Given the description of an element on the screen output the (x, y) to click on. 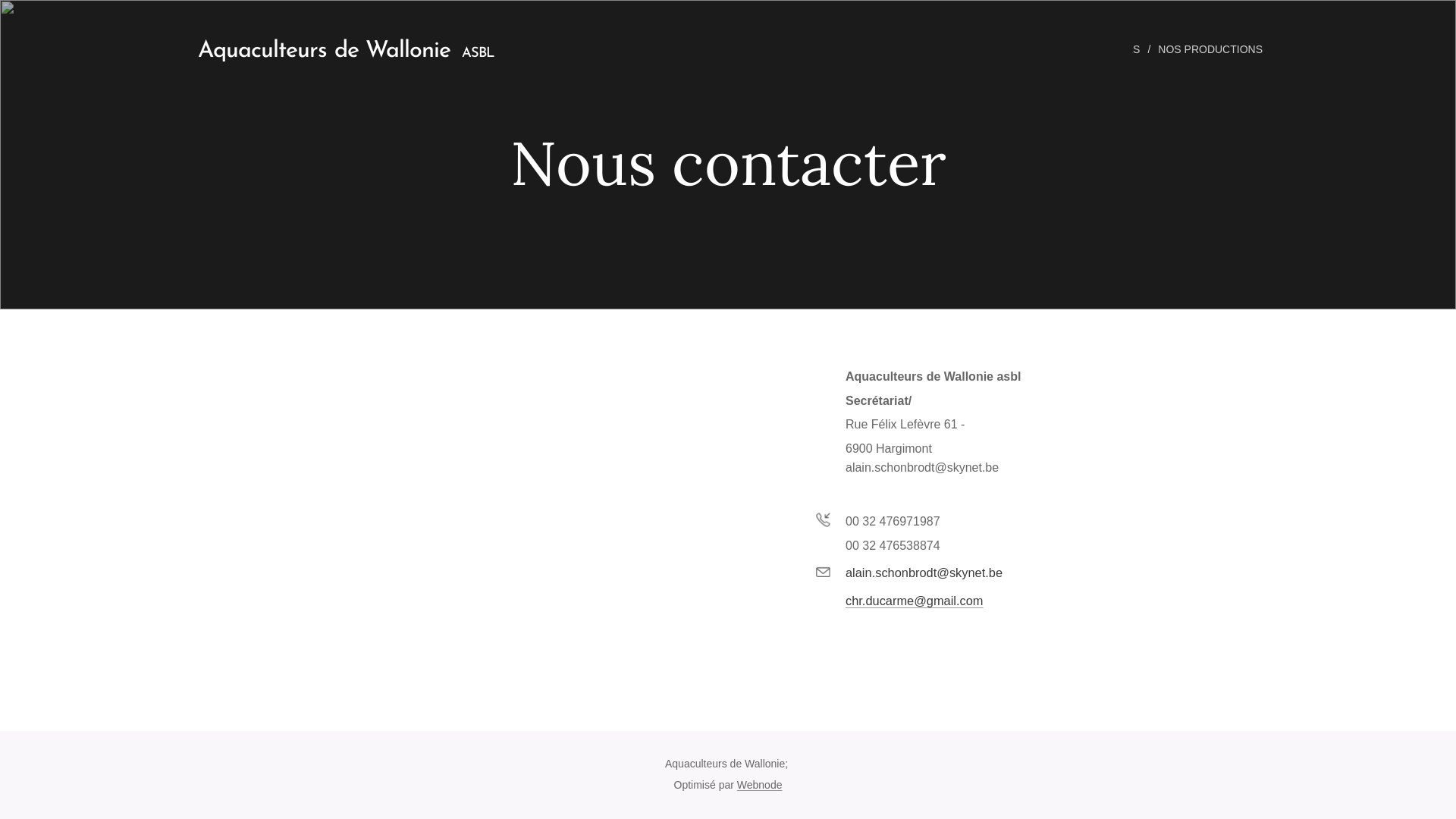
LES PRODUCTEURS Element type: text (1088, 49)
 Aquaculteurs de Wallonie   ASBL Element type: text (340, 49)
Webnode Element type: text (759, 784)
chr.ducarme@gmail.com Element type: text (914, 600)
NOS PRODUCTIONS Element type: text (1212, 49)
